Given the description of an element on the screen output the (x, y) to click on. 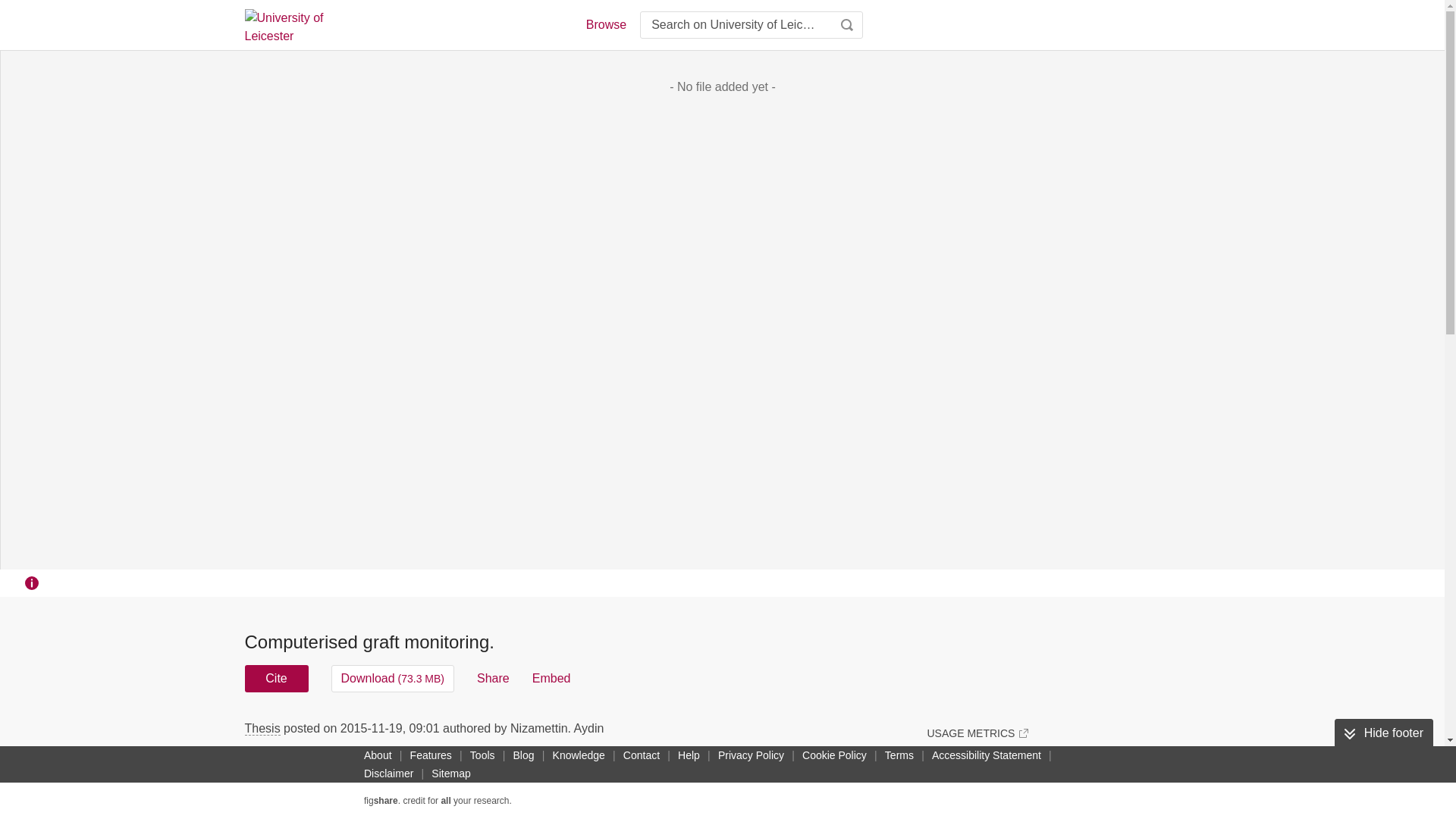
Sitemap (450, 773)
Privacy Policy (751, 755)
Hide footer (1383, 733)
Cite (275, 678)
Disclaimer (388, 773)
Embed (551, 678)
Cookie Policy (833, 755)
Contact (640, 755)
Share (493, 678)
Help (688, 755)
